Given the description of an element on the screen output the (x, y) to click on. 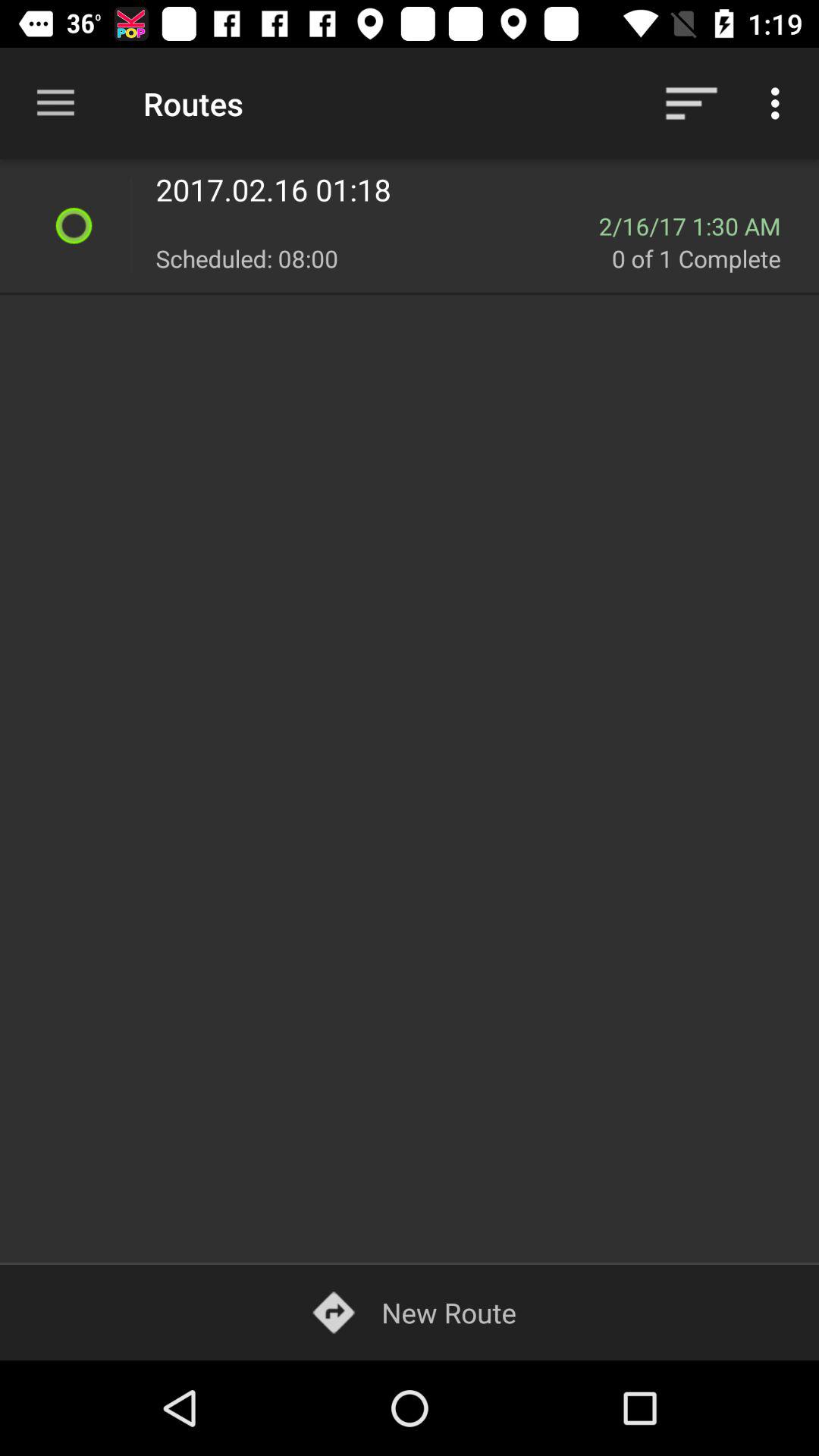
open the item to the left of routes item (55, 103)
